Given the description of an element on the screen output the (x, y) to click on. 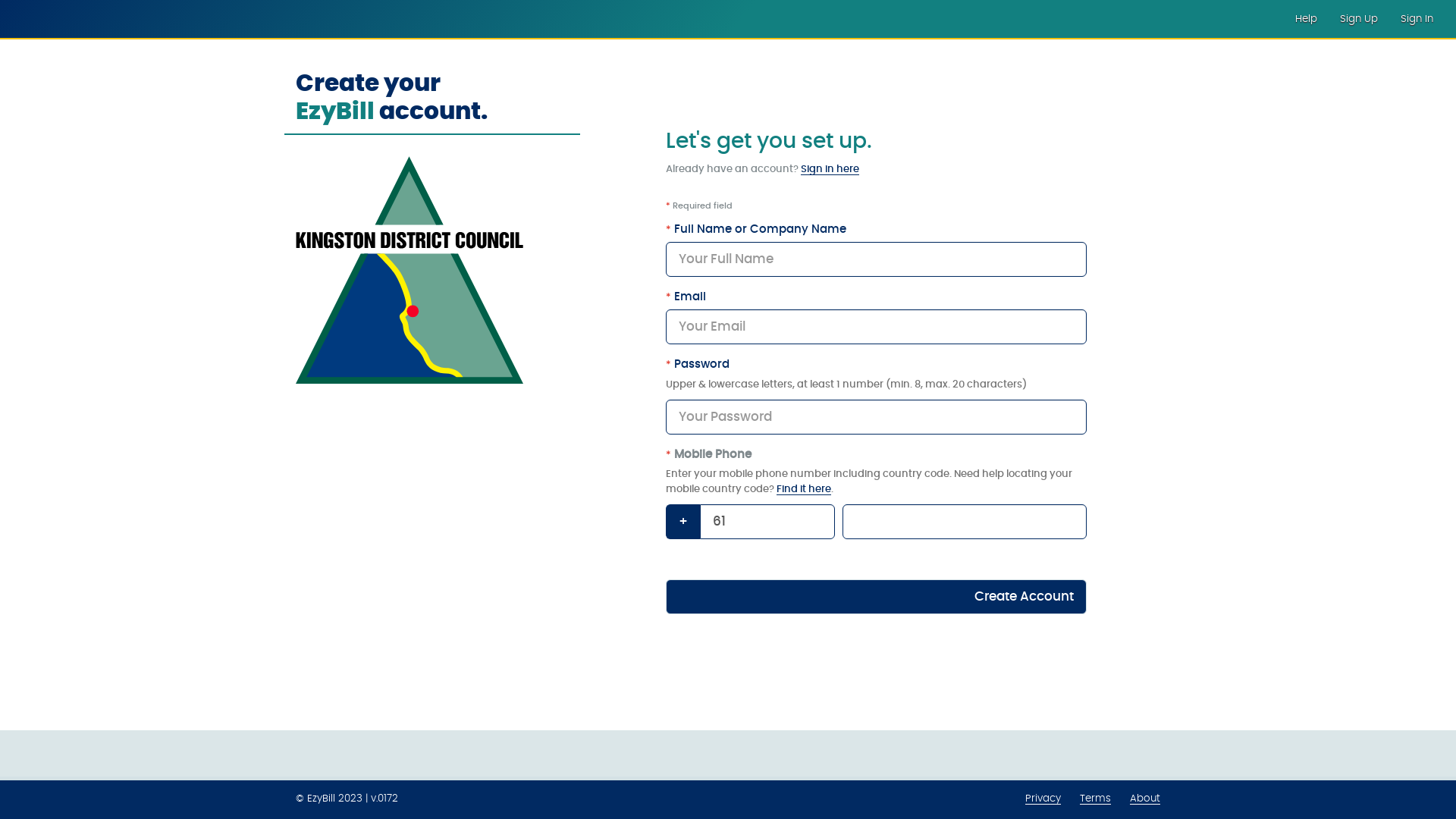
Sign In Element type: text (1416, 18)
Privacy Element type: text (1042, 798)
Help Element type: text (1305, 18)
Terms Element type: text (1094, 798)
Create Account Element type: text (875, 596)
Sign in here Element type: text (829, 169)
Find it here Element type: text (803, 489)
About Element type: text (1144, 798)
Sign Up Element type: text (1358, 18)
Kingston District Council Element type: text (68, 18)
